Given the description of an element on the screen output the (x, y) to click on. 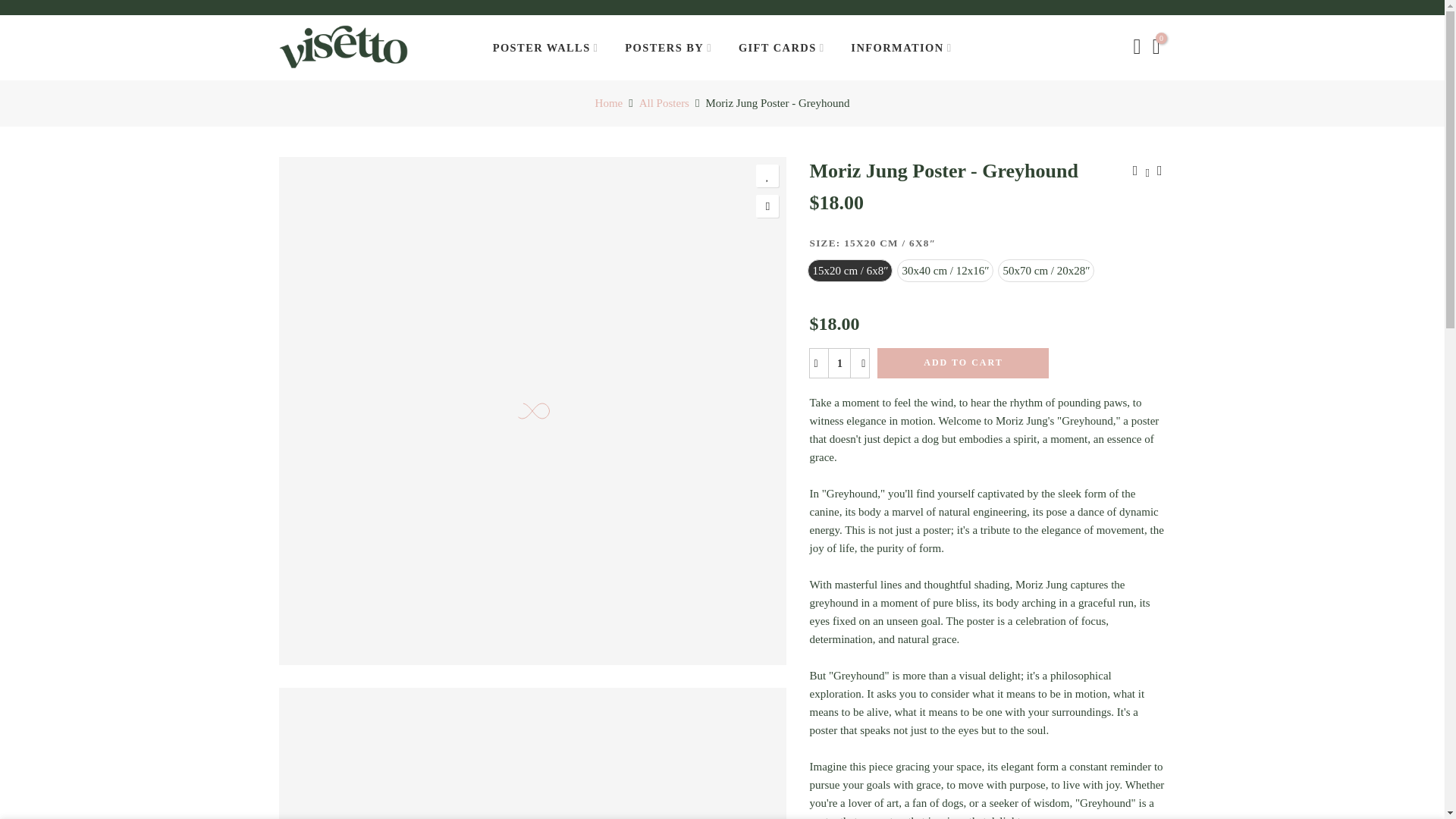
POSTERS BY (668, 47)
POSTER WALLS (545, 47)
INFORMATION (901, 47)
GIFT CARDS (781, 47)
